Given the description of an element on the screen output the (x, y) to click on. 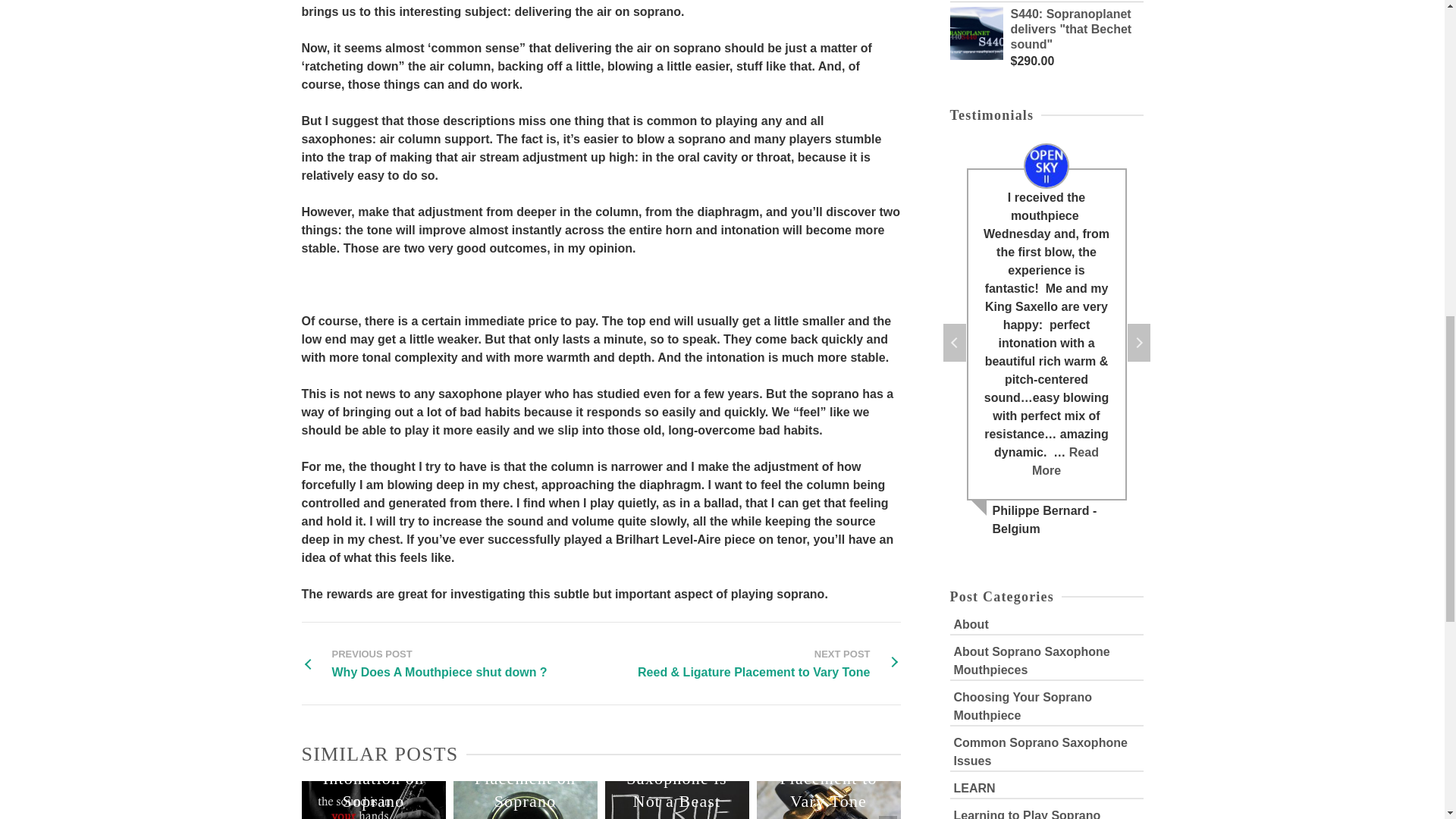
Intonation on Soprano (373, 774)
Previous (424, 663)
